Given the description of an element on the screen output the (x, y) to click on. 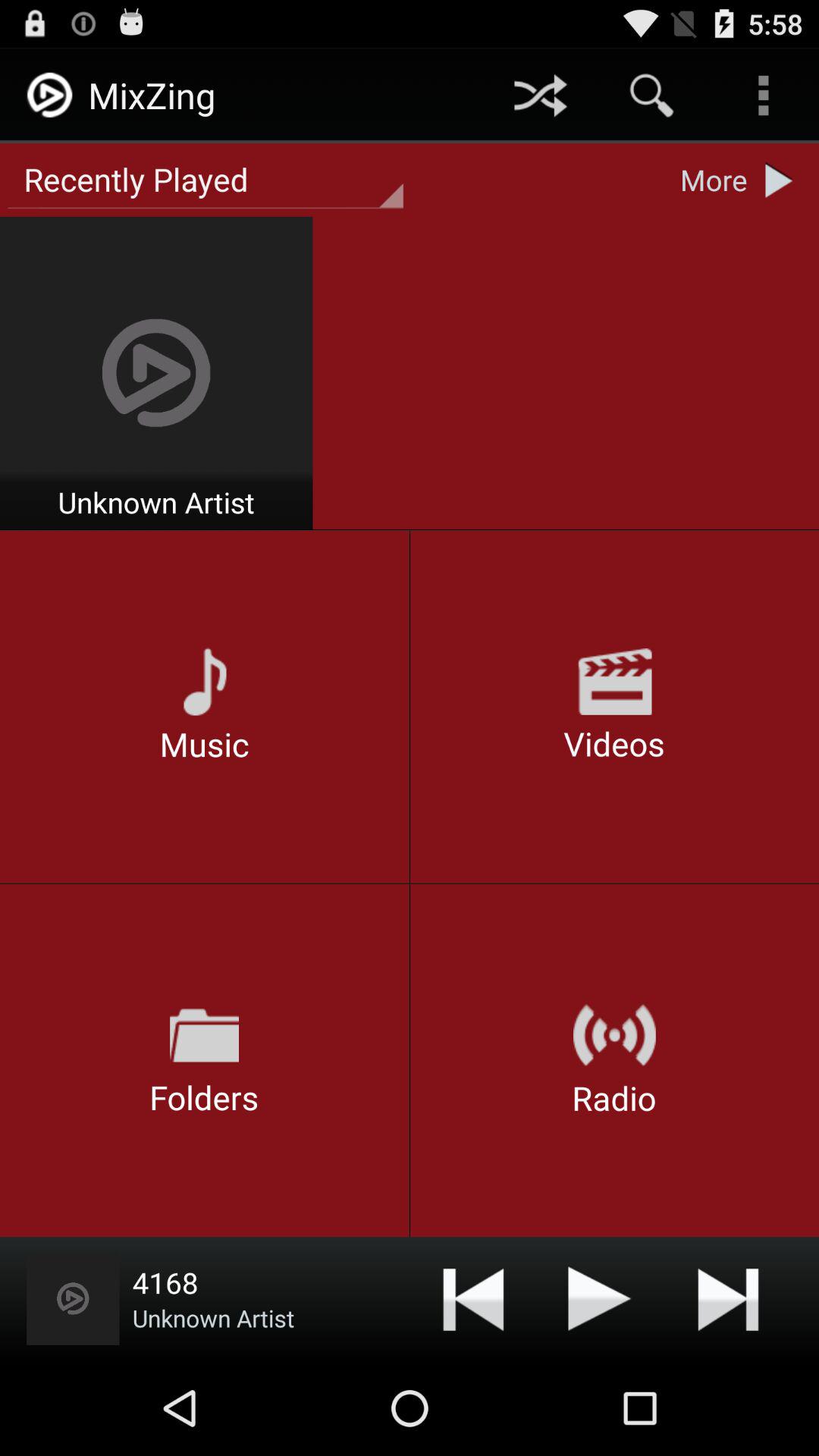
next option (728, 1298)
